Given the description of an element on the screen output the (x, y) to click on. 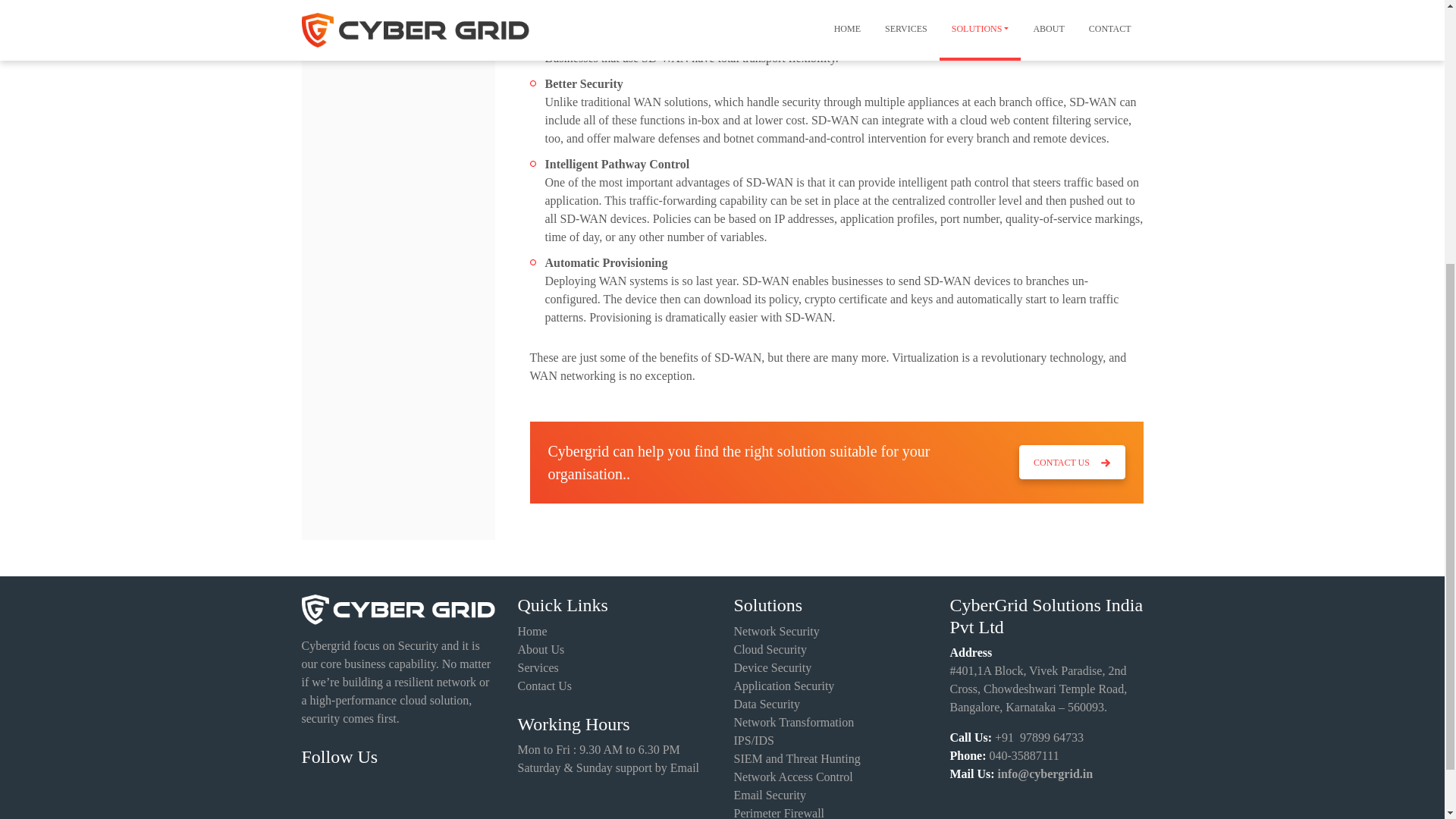
CONTACT US (1072, 462)
Network Transformation (793, 721)
Services (536, 667)
Cloud Security (769, 649)
Network Security (776, 631)
SIEM and Threat Hunting (796, 758)
About Us (540, 649)
Data Security (766, 703)
Home (531, 631)
Contact Us (544, 685)
